Given the description of an element on the screen output the (x, y) to click on. 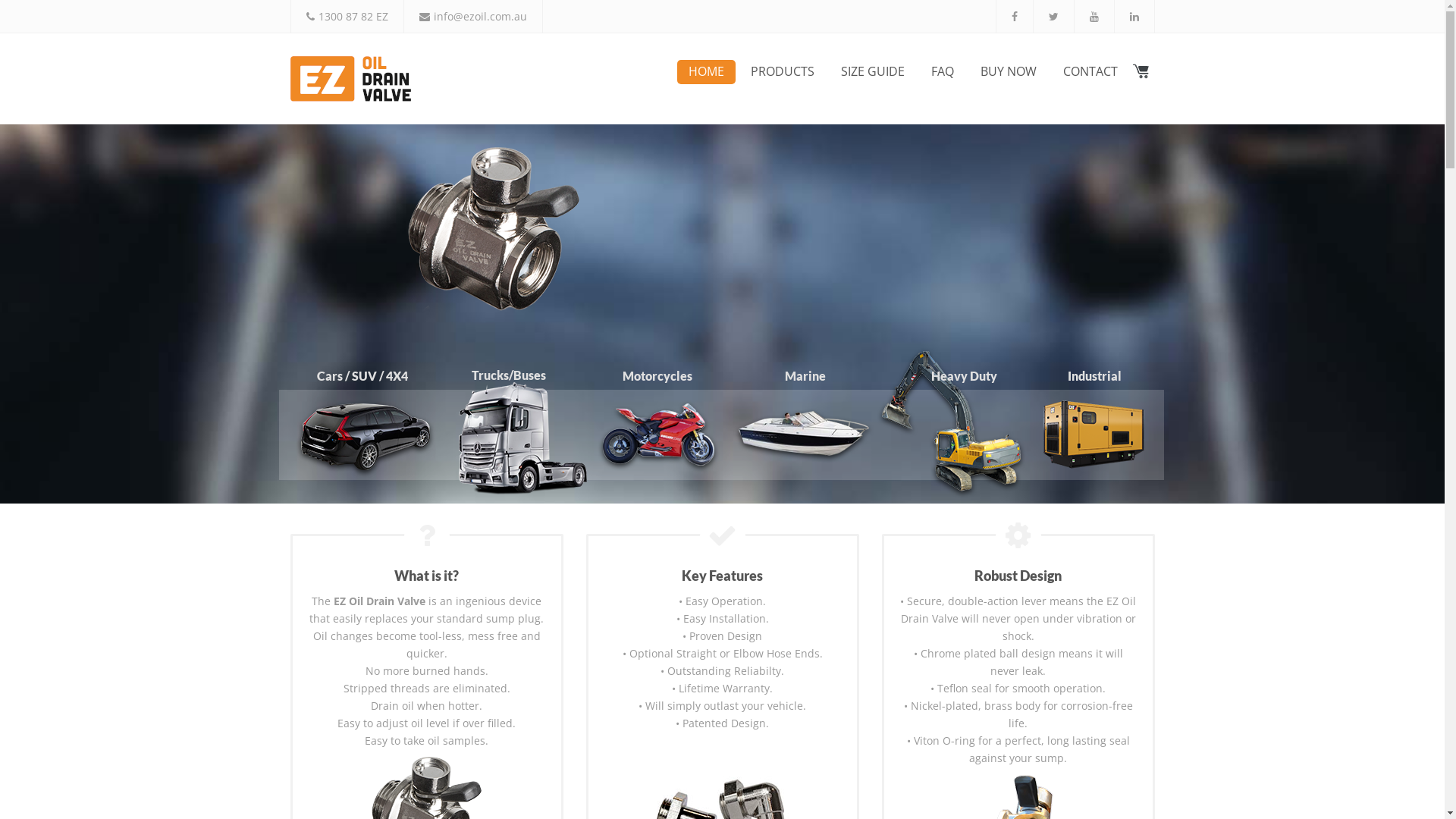
CONTACT Element type: text (1089, 71)
SIZE GUIDE Element type: text (872, 71)
PRODUCTS Element type: text (781, 71)
FAQ Element type: text (941, 71)
HOME Element type: text (705, 71)
BUY NOW Element type: text (1008, 71)
info@ezoil.com.au Element type: text (480, 16)
